Given the description of an element on the screen output the (x, y) to click on. 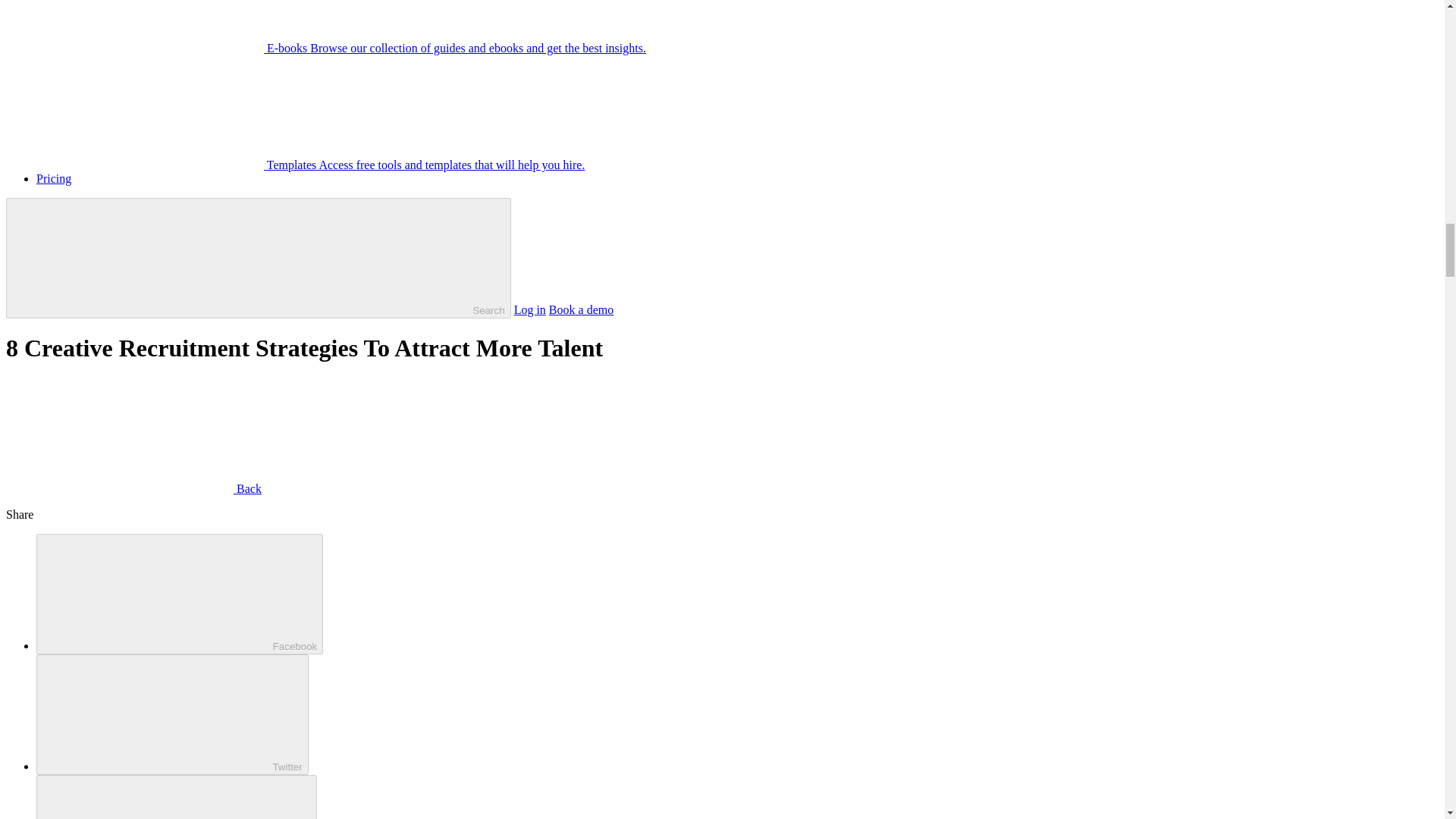
Pricing (53, 178)
Log in (529, 309)
Book a demo (580, 309)
Facebook (179, 593)
Back (133, 488)
Search (258, 258)
